Given the description of an element on the screen output the (x, y) to click on. 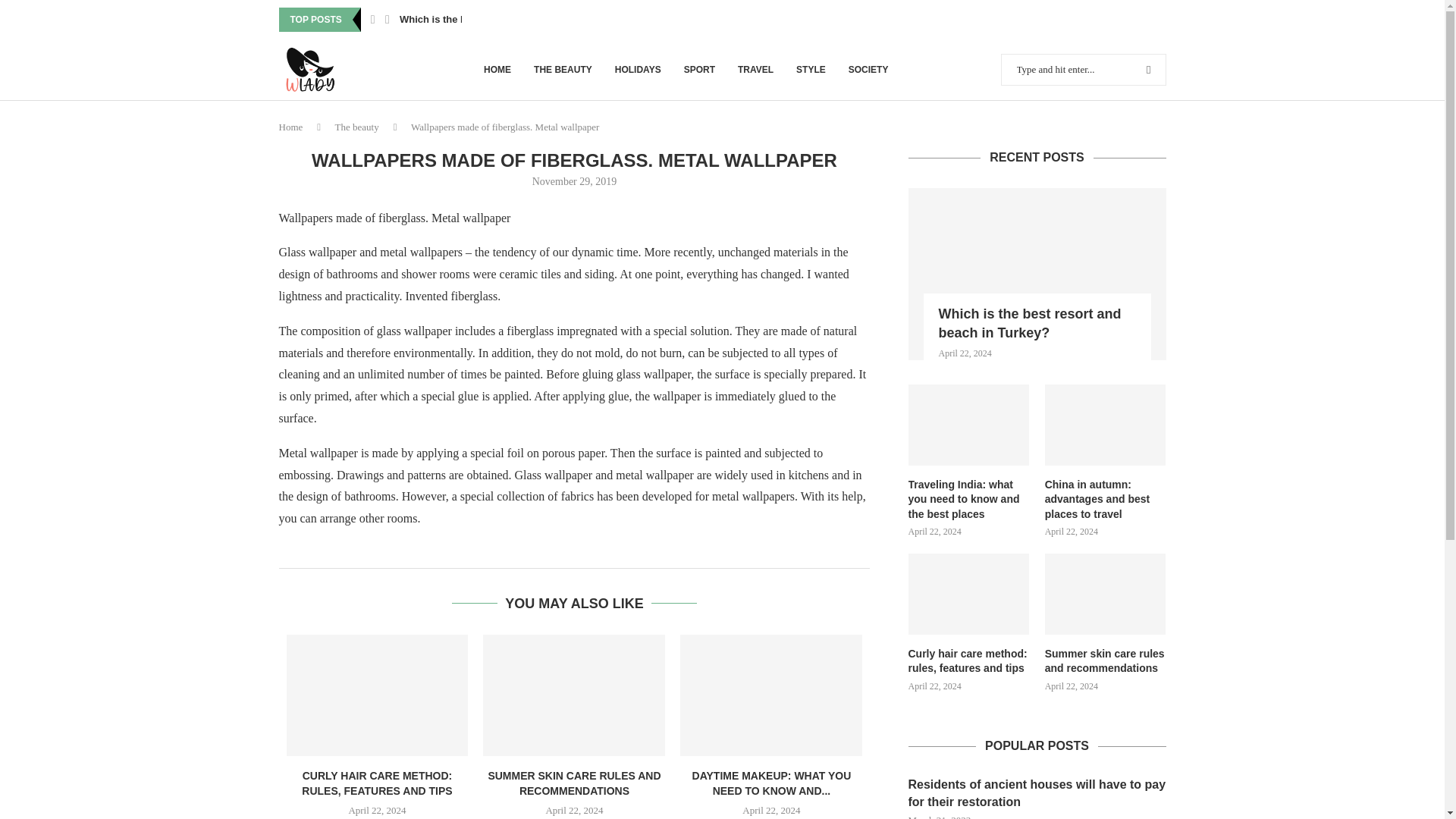
THE BEAUTY (563, 69)
Curly hair care method: rules, features and tips (968, 661)
Summer skin care rules and recommendations (1105, 661)
Which is the best resort and beach in Turkey? (1037, 274)
SOCIETY (868, 69)
China in autumn: advantages and best places to travel (1105, 499)
Which is the best resort and beach in... (490, 19)
HOLIDAYS (637, 69)
Curly hair care method: rules, features and tips (377, 694)
